Given the description of an element on the screen output the (x, y) to click on. 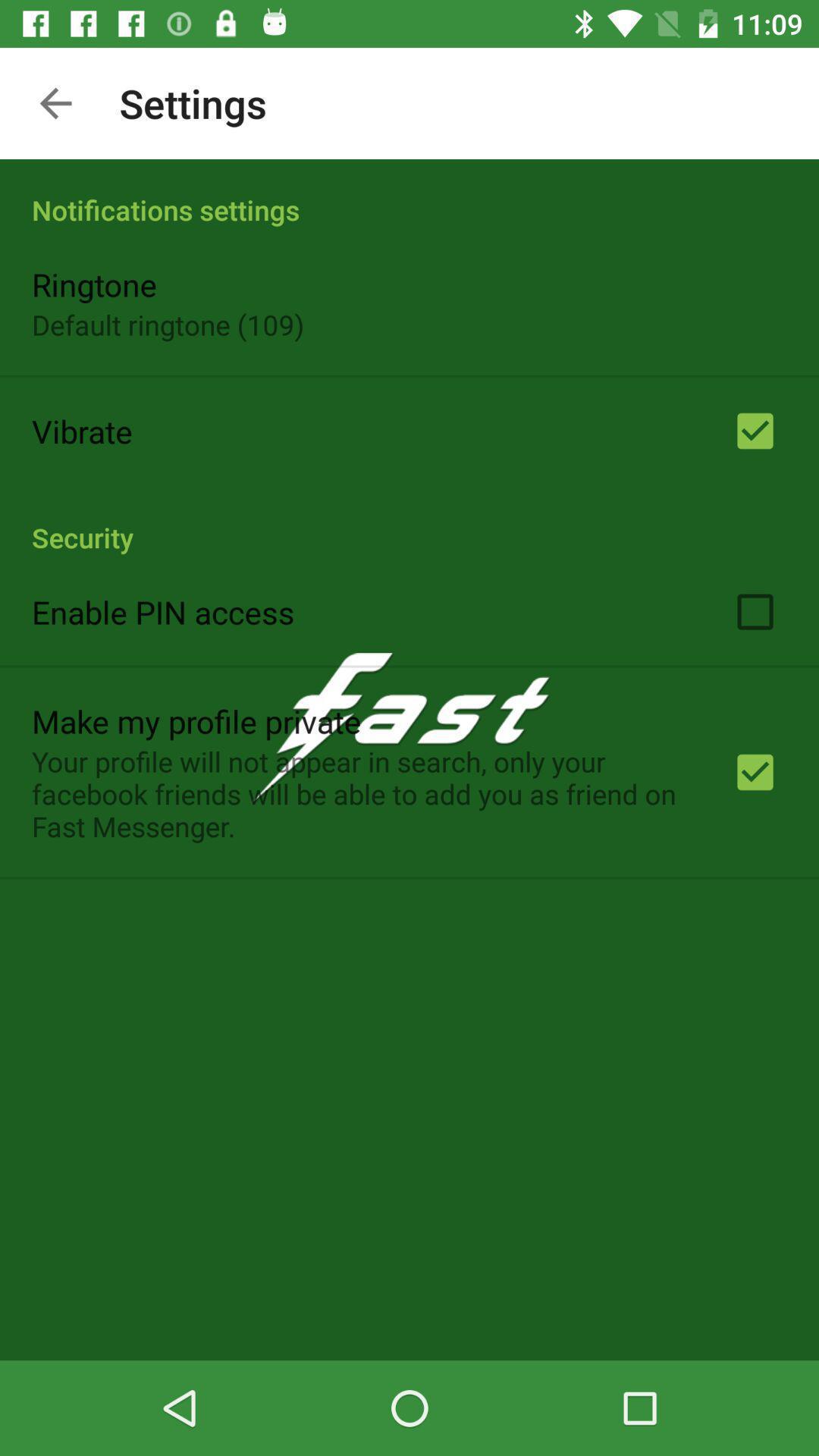
jump to the notifications settings item (409, 193)
